Given the description of an element on the screen output the (x, y) to click on. 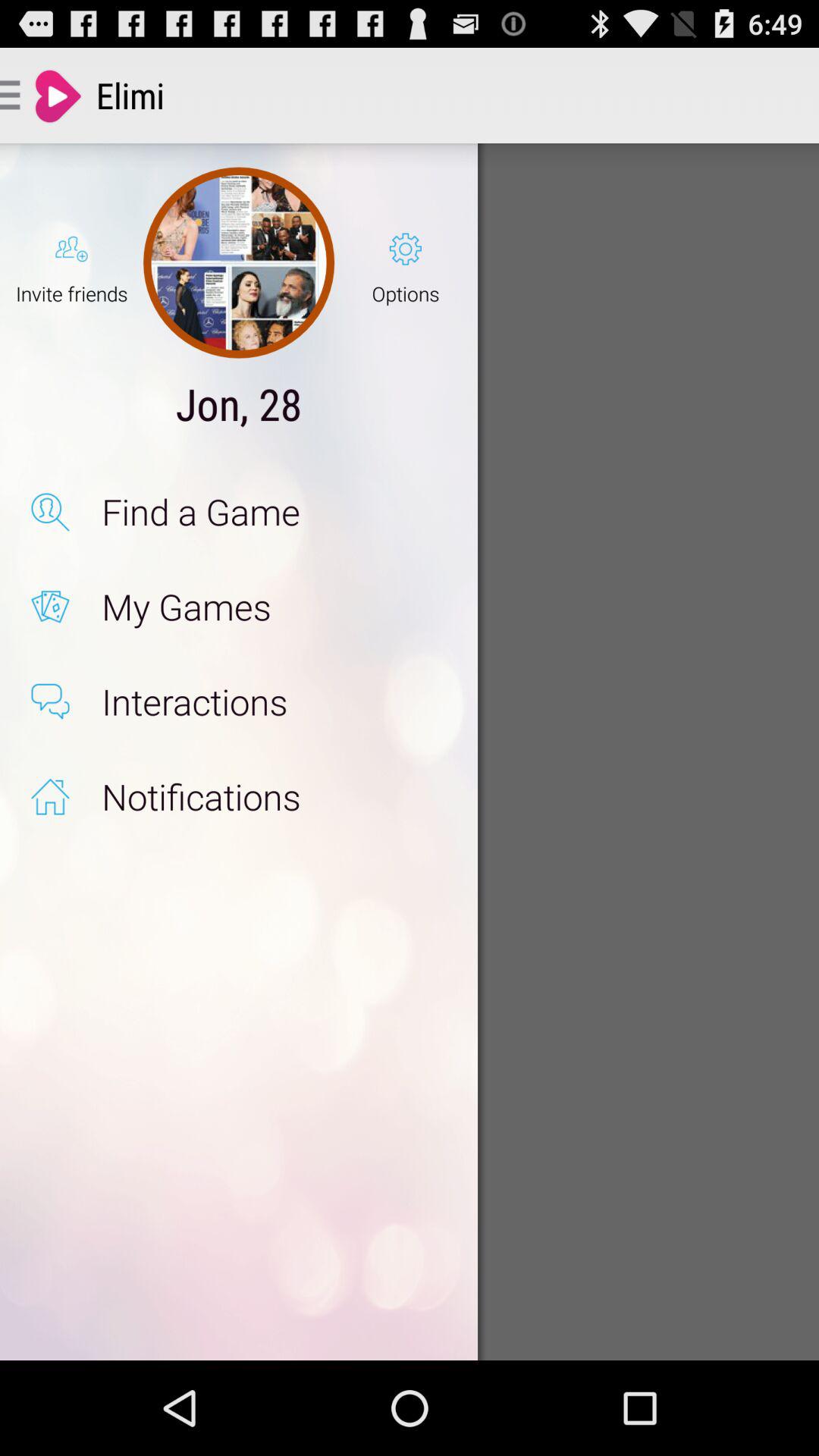
click the app above the find a game (405, 262)
